Given the description of an element on the screen output the (x, y) to click on. 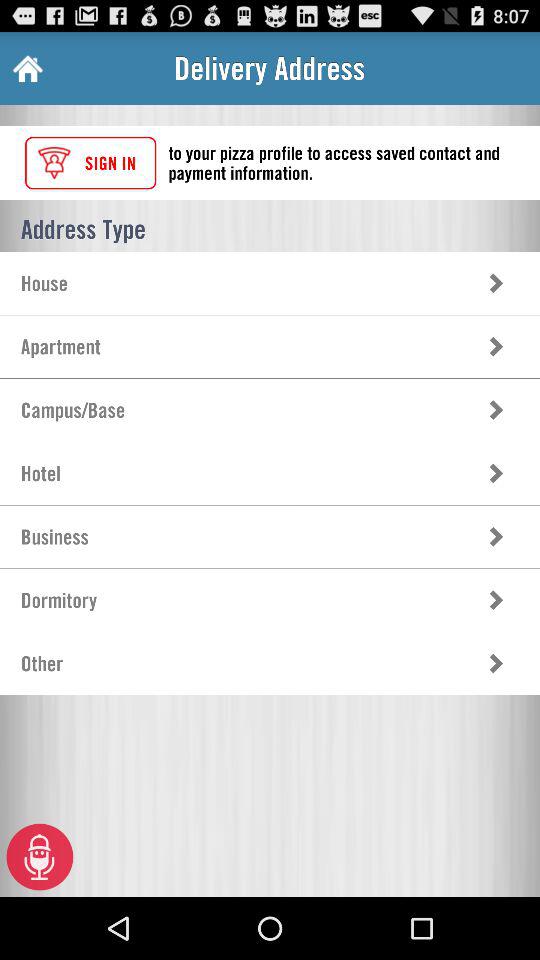
press the icon at the bottom left corner (40, 856)
